Given the description of an element on the screen output the (x, y) to click on. 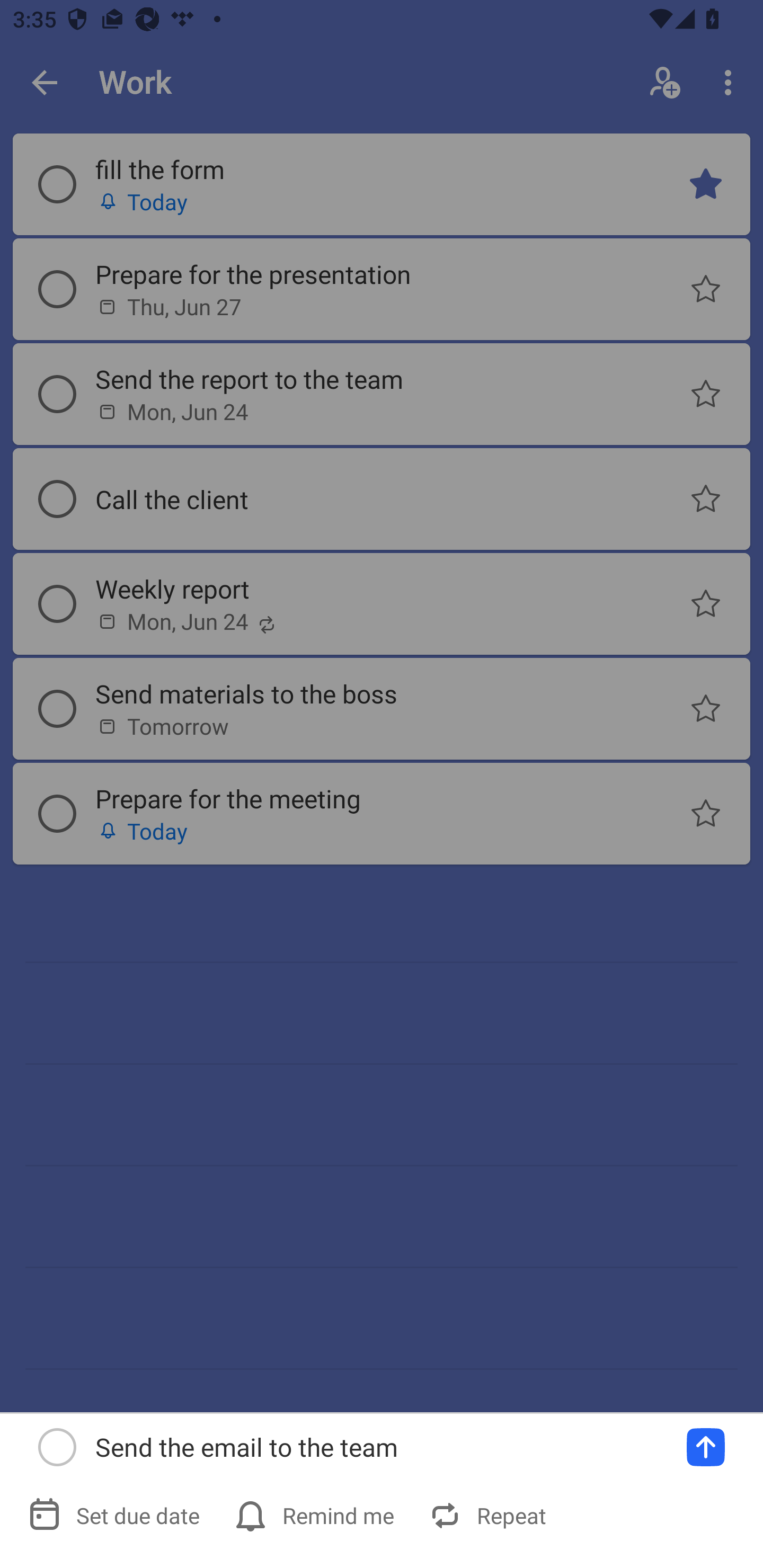
Set due date (115, 1515)
